Given the description of an element on the screen output the (x, y) to click on. 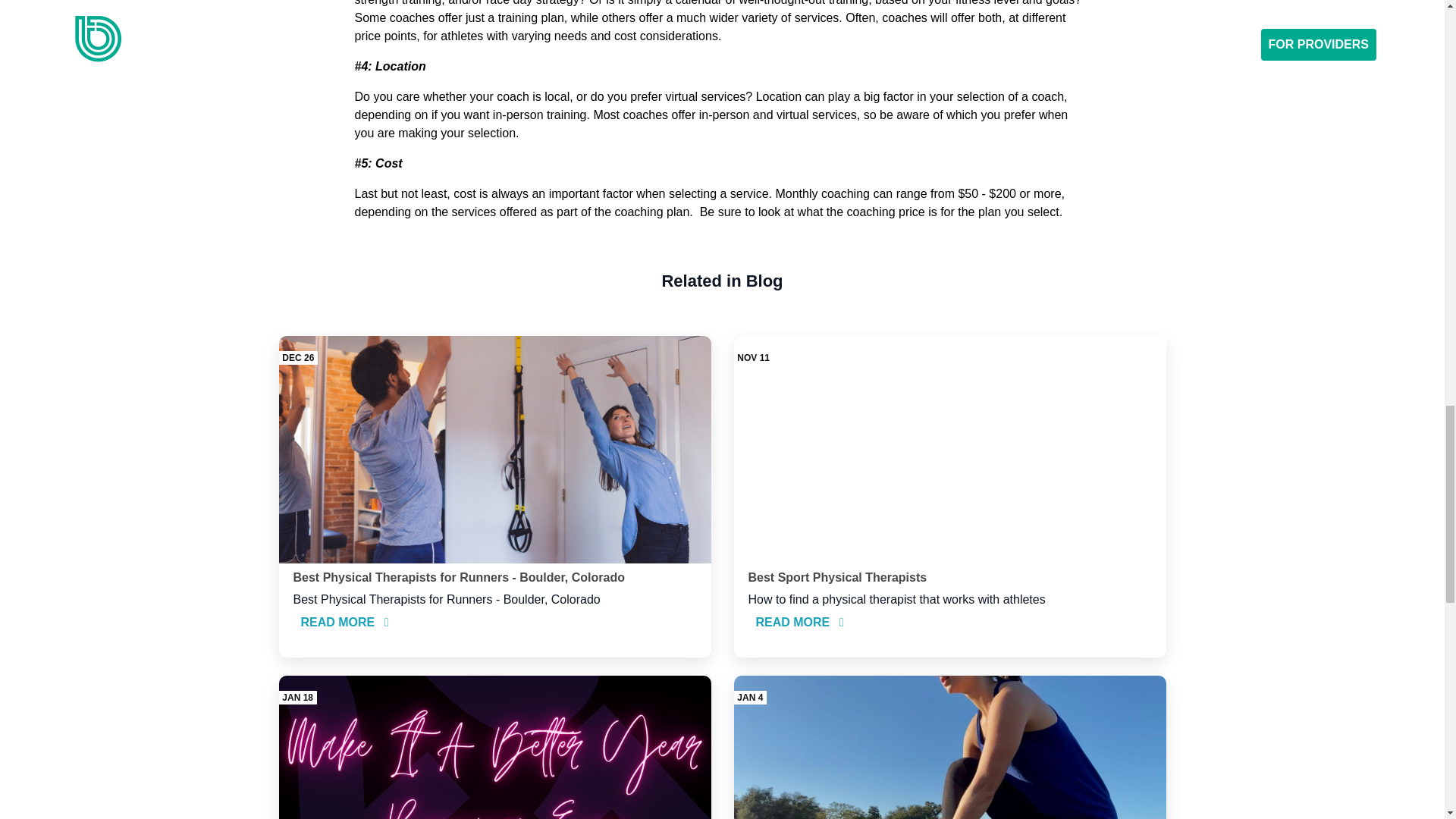
Best Sport Physical Therapists (837, 576)
READ MORE (799, 621)
READ MORE (344, 621)
Best Physical Therapists for Runners - Boulder, Colorado (458, 576)
